Given the description of an element on the screen output the (x, y) to click on. 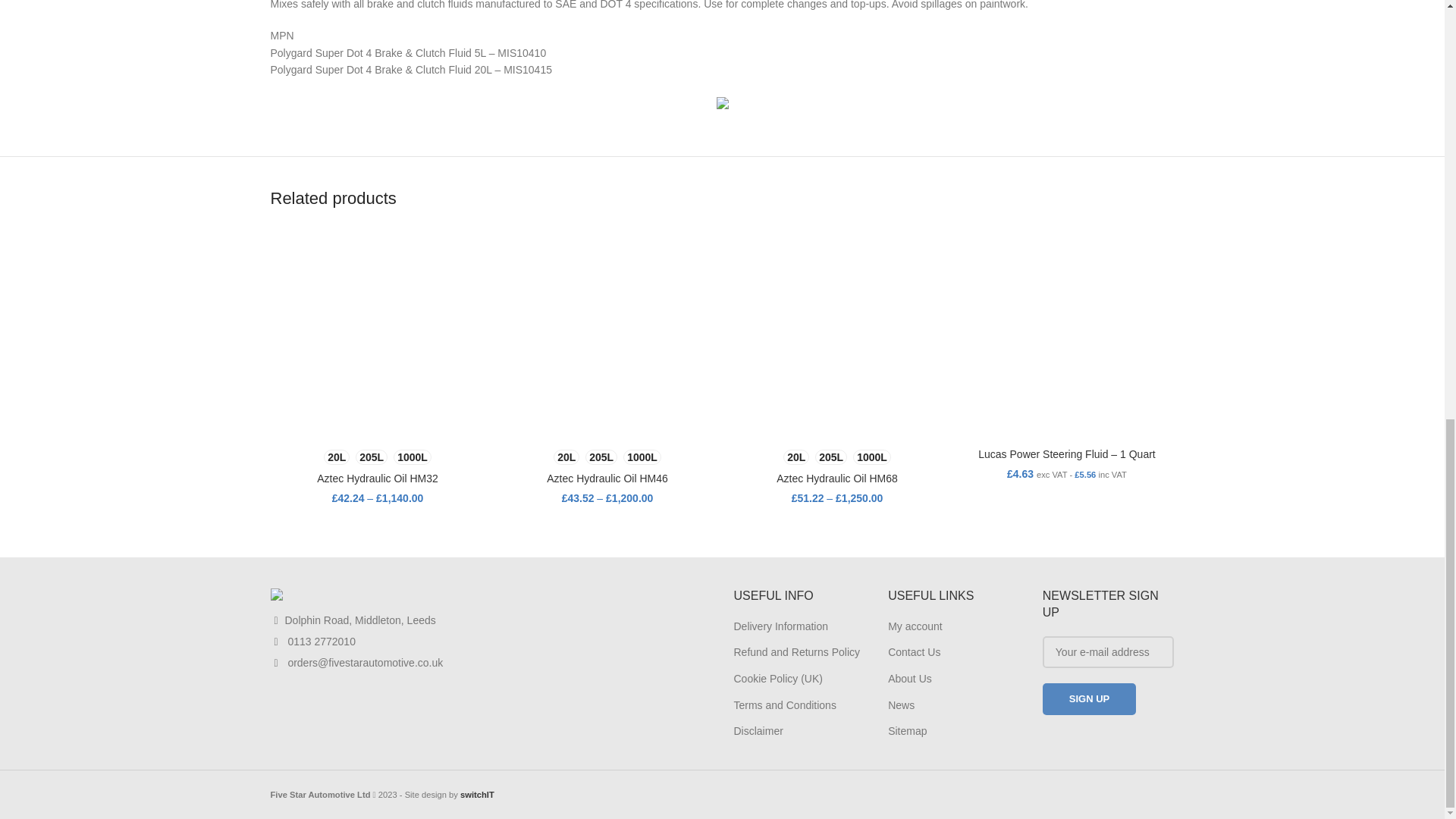
Sign up (1088, 698)
